Given the description of an element on the screen output the (x, y) to click on. 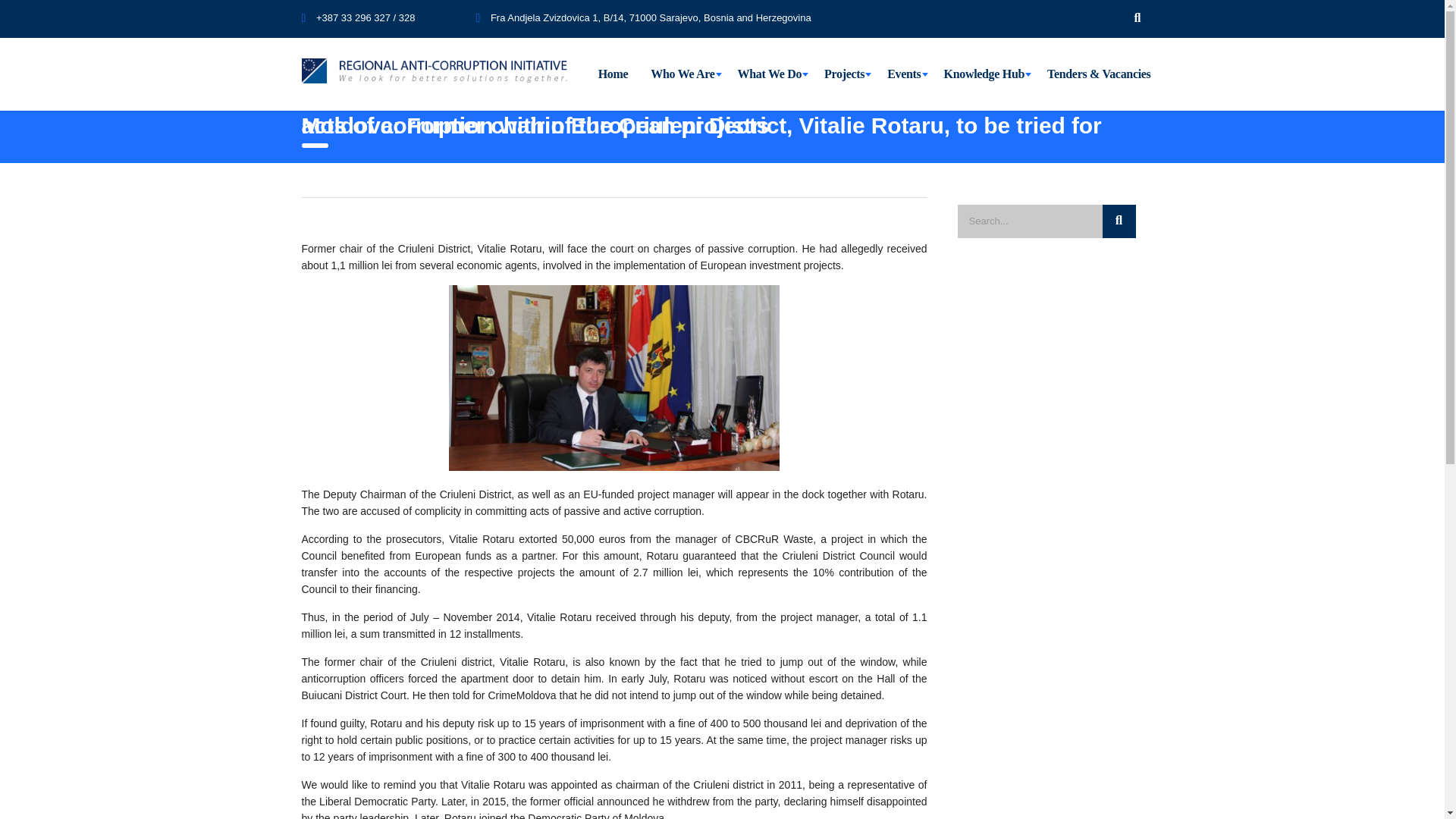
Home (613, 73)
Projects (844, 73)
What We Do (769, 73)
Events (903, 73)
Who We Are (682, 73)
